Given the description of an element on the screen output the (x, y) to click on. 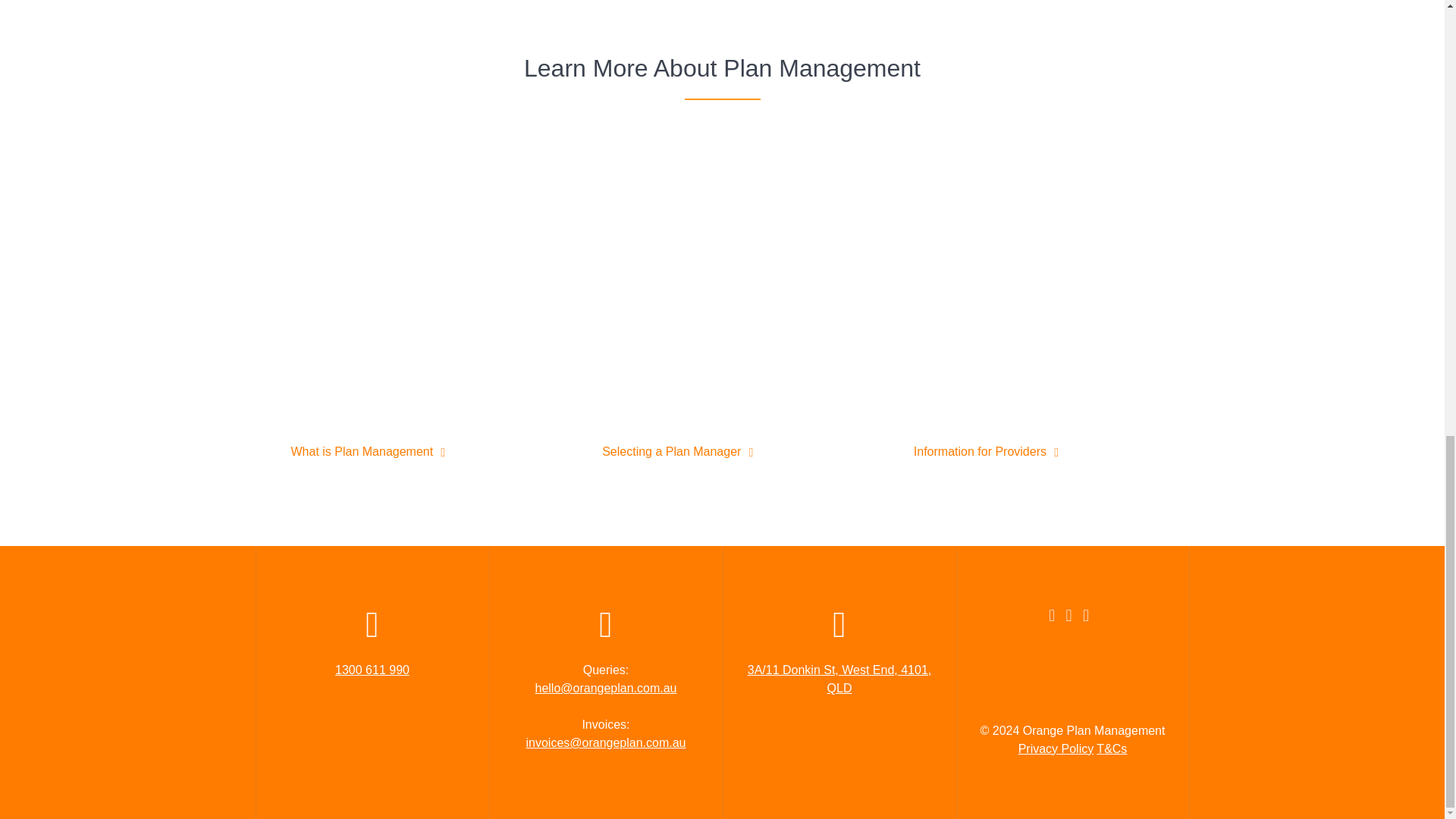
What is Plan Management (362, 452)
